Given the description of an element on the screen output the (x, y) to click on. 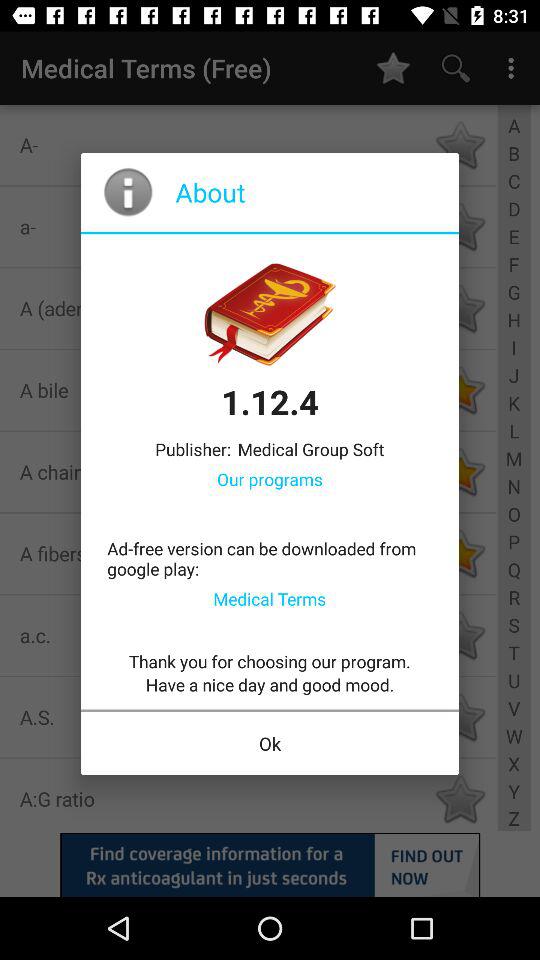
jump until ok icon (270, 743)
